Given the description of an element on the screen output the (x, y) to click on. 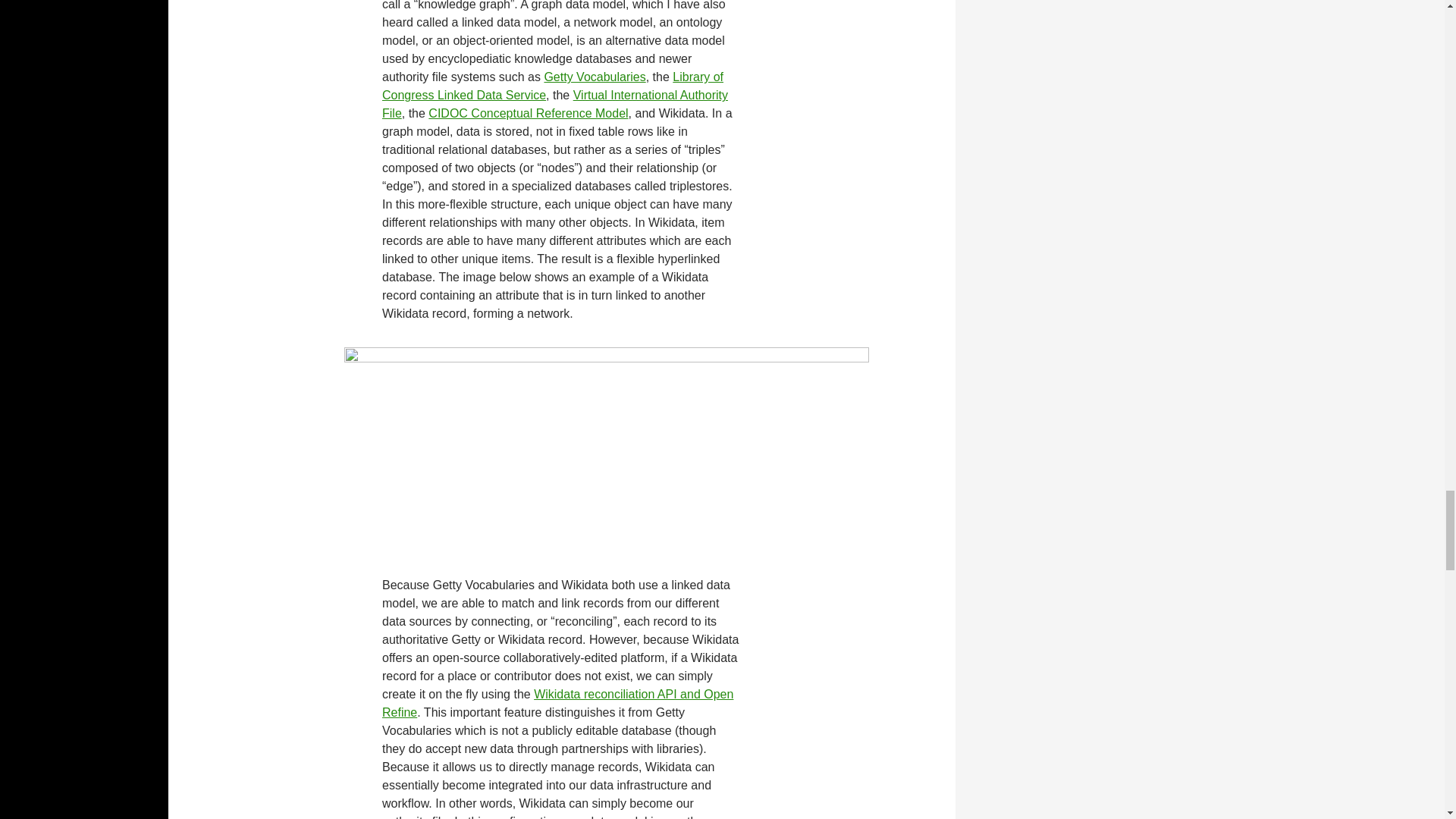
Virtual International Authority File (554, 103)
Getty Vocabularies (594, 76)
Wikidata reconciliation API and Open Refine (557, 703)
Library of Congress Linked Data Service (552, 85)
CIDOC Conceptual Reference Model (527, 113)
